Given the description of an element on the screen output the (x, y) to click on. 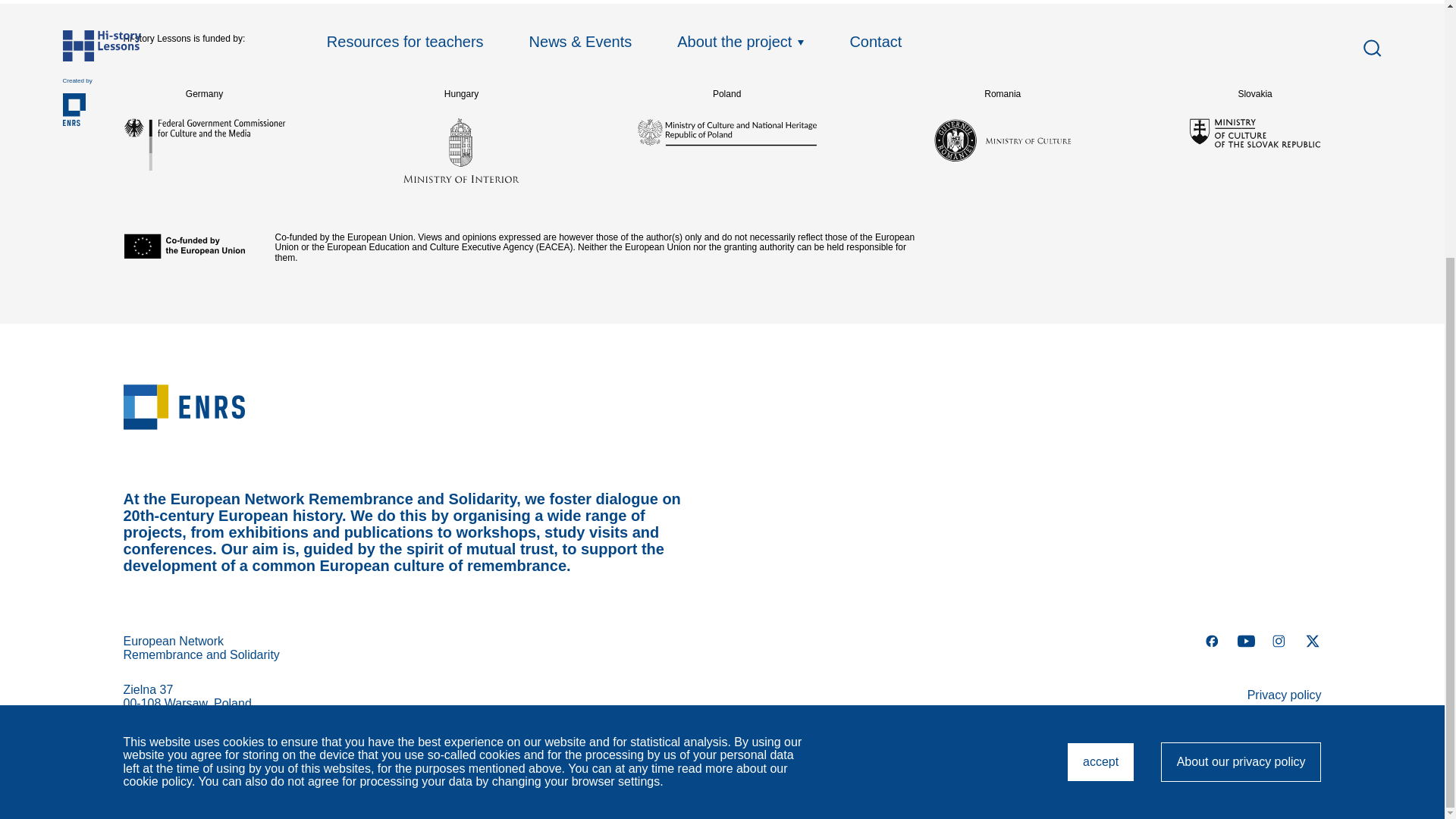
ENRS on youtube (1244, 640)
Newsletter (1292, 751)
ENRS on instagram (1278, 640)
European Network Remembrance and Solidarity (721, 406)
Accessibility Statement (1259, 722)
Privacy policy (1284, 694)
About our privacy policy (1100, 394)
ENRS on facebook (1241, 394)
